Given the description of an element on the screen output the (x, y) to click on. 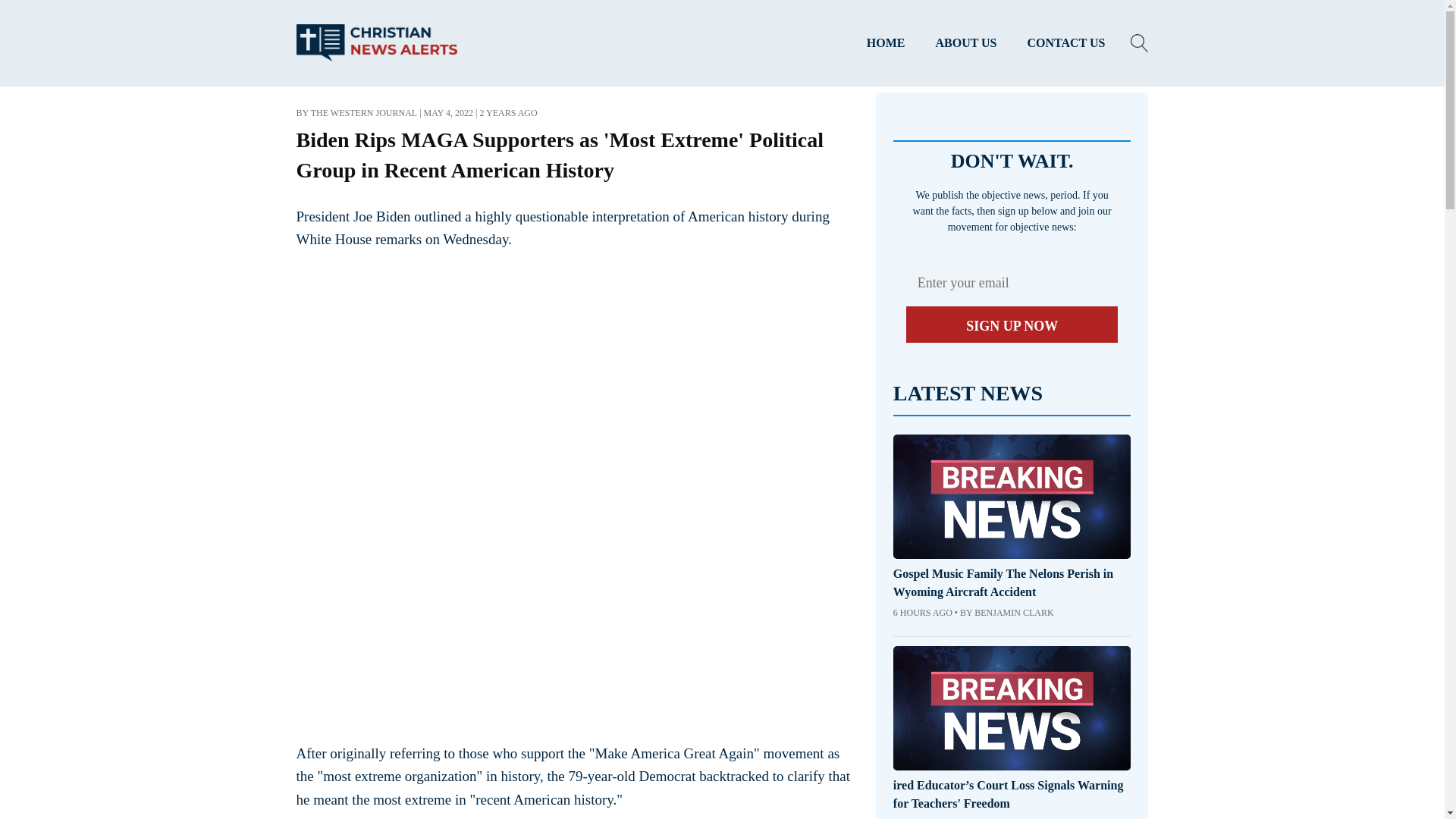
THE WESTERN JOURNAL (363, 112)
SIGN UP NOW (1011, 324)
CONTACT US (1066, 43)
ABOUT US (965, 43)
SIGN UP NOW (1011, 324)
